Given the description of an element on the screen output the (x, y) to click on. 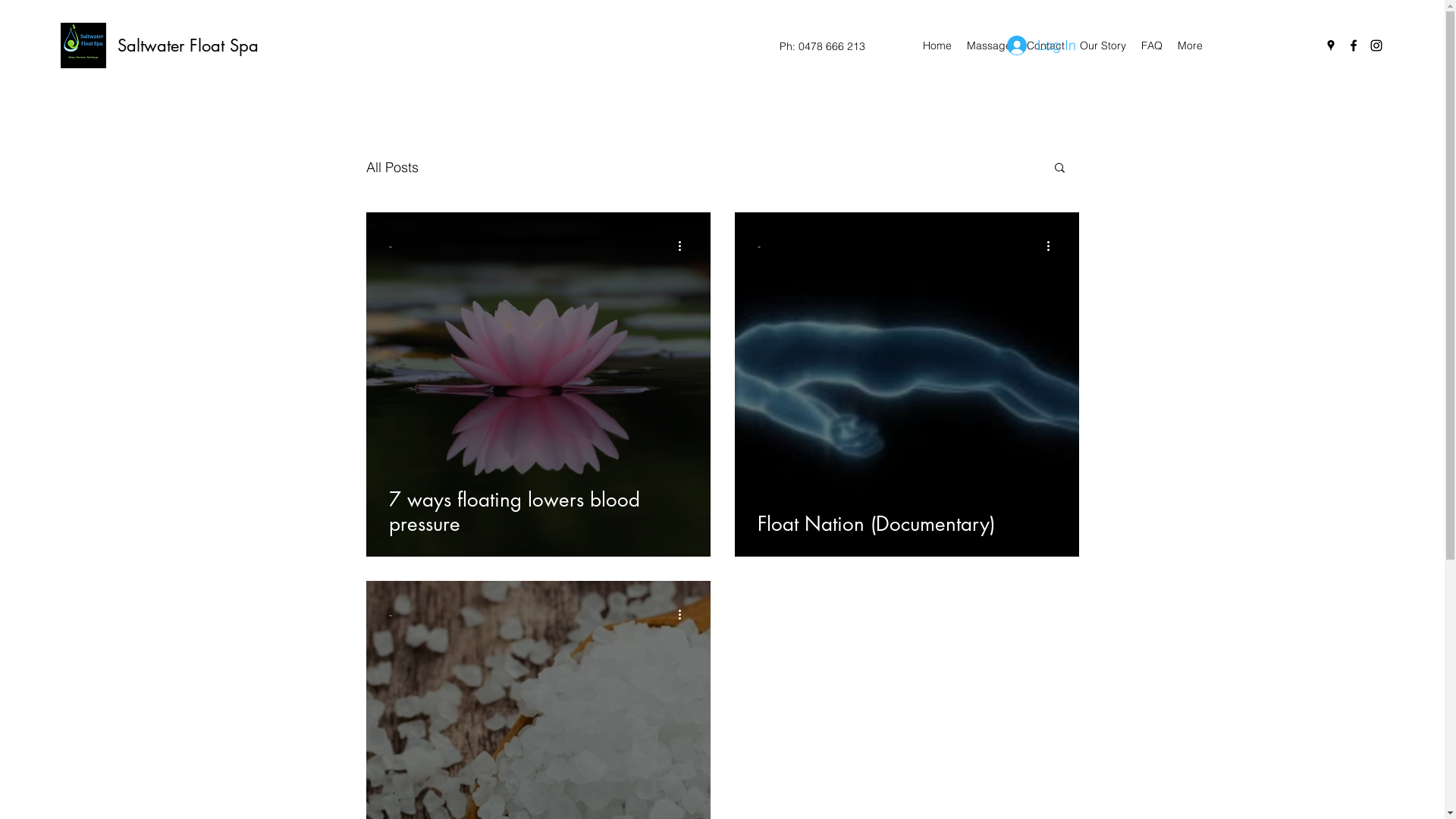
Our Story Element type: text (1102, 45)
7 ways floating lowers blood pressure Element type: text (537, 511)
- Element type: text (389, 245)
Contact Element type: text (1045, 45)
Massage Element type: text (989, 45)
FAQ Element type: text (1151, 45)
Home Element type: text (937, 45)
Saltwater Float Spa Element type: text (187, 45)
Float Nation (Documentary) Element type: text (905, 523)
Log In Element type: text (1041, 45)
- Element type: text (757, 245)
All Posts Element type: text (391, 166)
- Element type: text (389, 613)
